Given the description of an element on the screen output the (x, y) to click on. 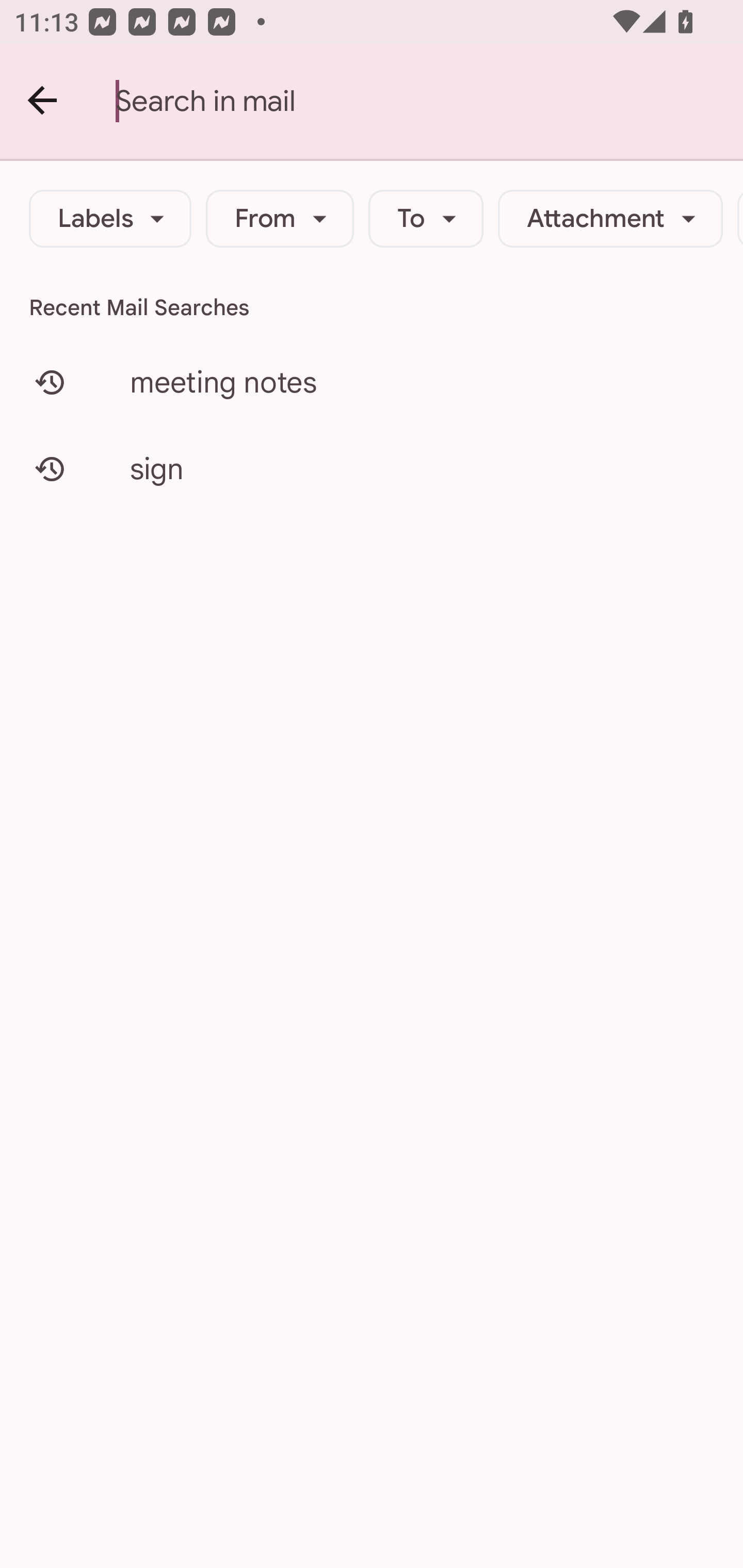
Back (43, 101)
Labels (109, 218)
From (279, 218)
To (425, 218)
Attachment (609, 218)
Recent Mail Searches (371, 306)
meeting notes Suggestion: meeting notes (371, 381)
sign Suggestion: sign (371, 468)
